Given the description of an element on the screen output the (x, y) to click on. 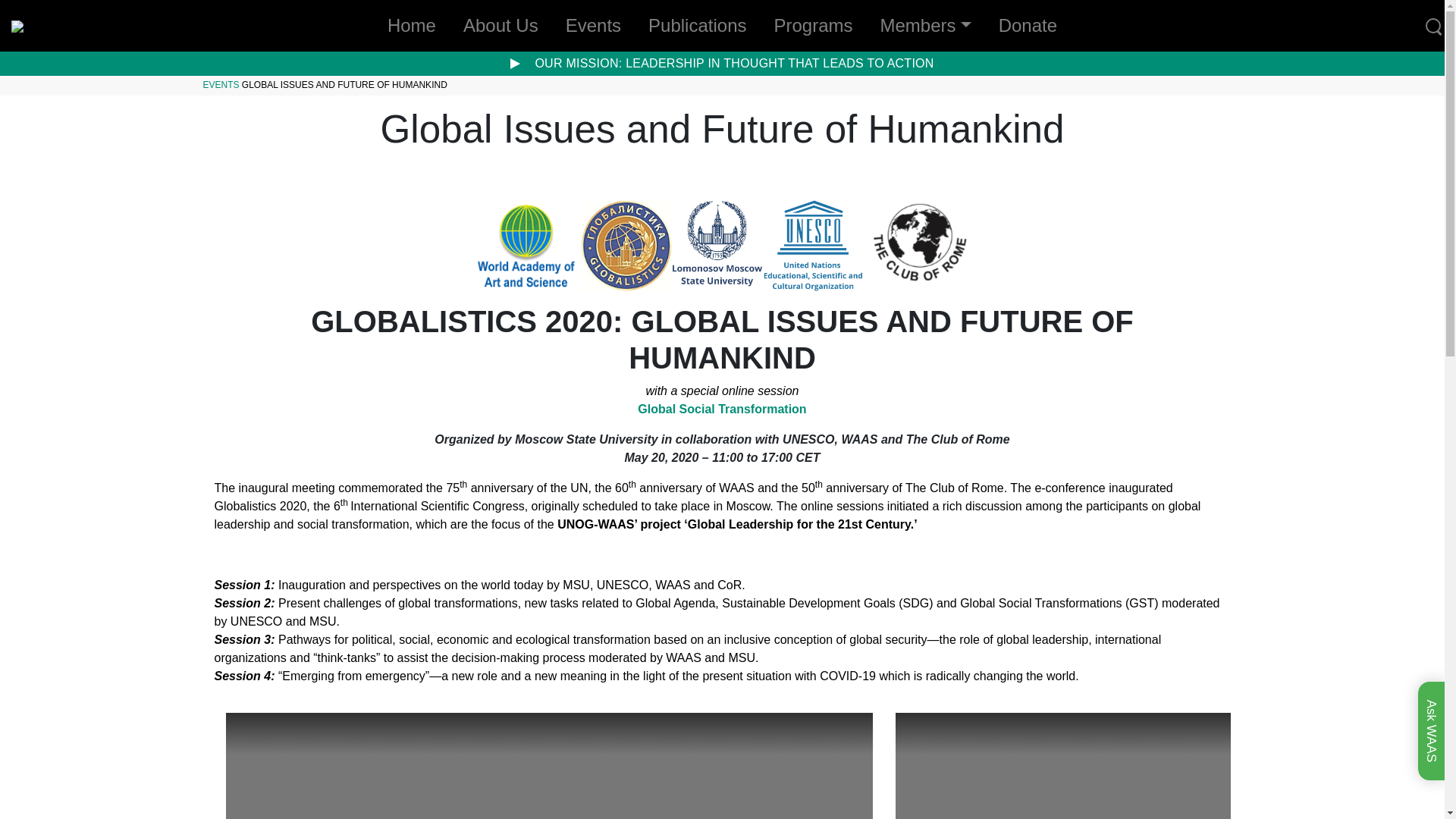
Donate (1027, 25)
Members (925, 25)
Programs (813, 25)
Events (593, 25)
Publications (697, 25)
Home (411, 25)
EVENTS (221, 84)
About Us (500, 25)
